Given the description of an element on the screen output the (x, y) to click on. 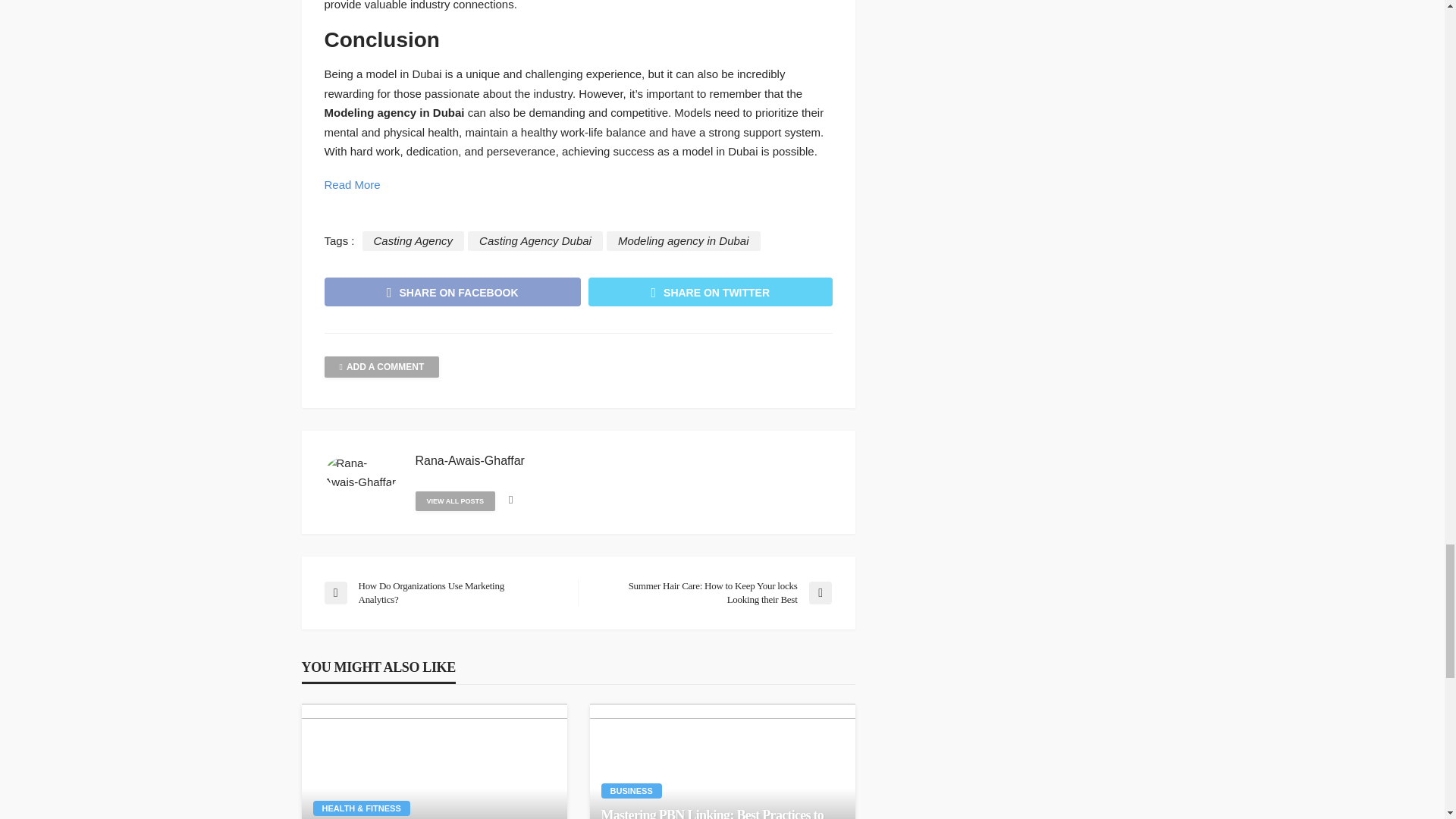
Casting Agency Dubai (534, 240)
Casting Agency (413, 240)
Modeling agency in Dubai (683, 240)
